Given the description of an element on the screen output the (x, y) to click on. 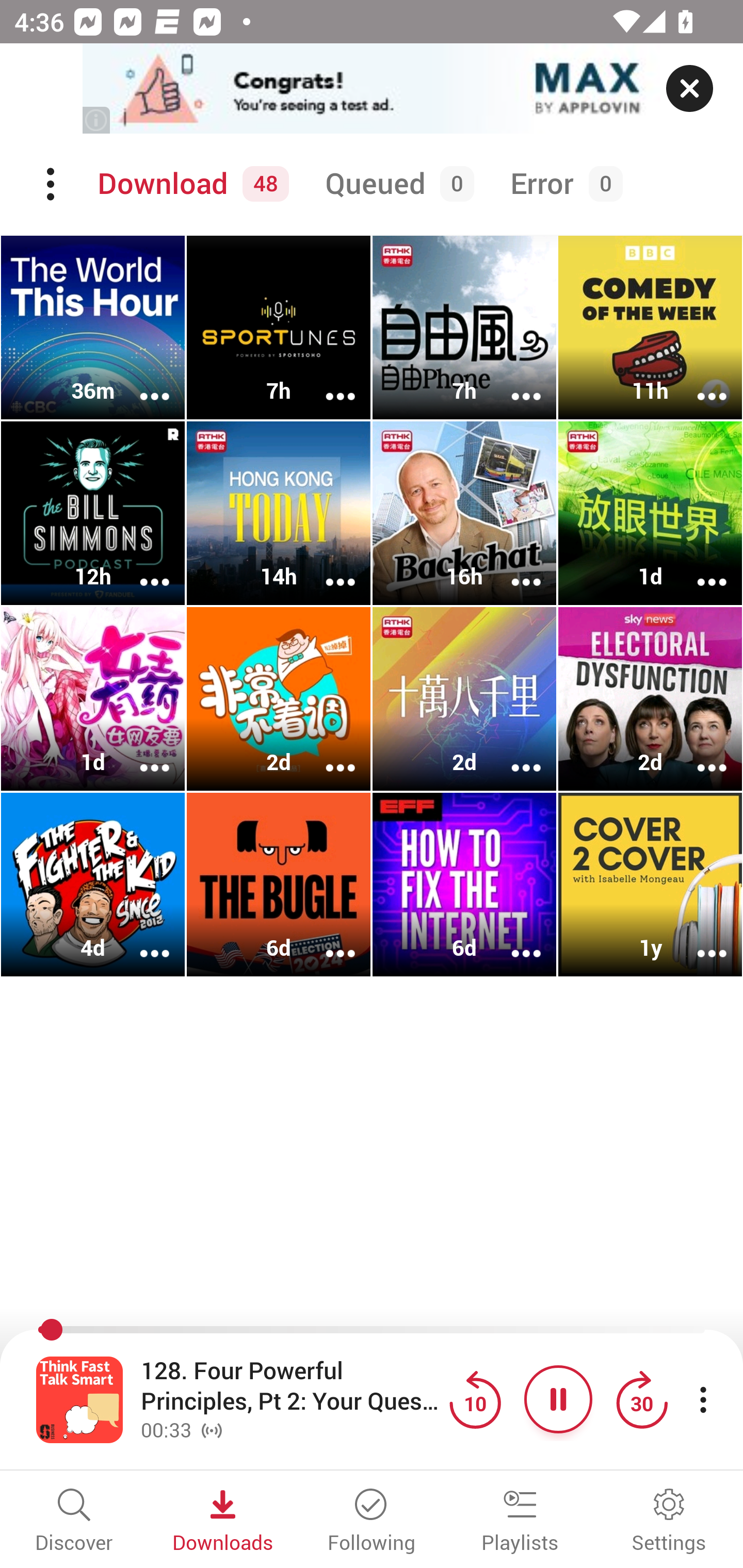
app-monetization (371, 88)
(i) (96, 119)
Menu (52, 184)
 Download 48 (189, 184)
 Queued 0 (396, 184)
 Error 0 (562, 184)
The World This Hour 36m More options More options (92, 327)
Sportunes HK 7h More options More options (278, 327)
自由风自由PHONE 7h More options More options (464, 327)
Comedy of the Week 11h More options More options (650, 327)
More options (141, 382)
More options (326, 382)
More options (512, 382)
More options (698, 382)
Hong Kong Today 14h More options More options (278, 513)
Backchat 16h More options More options (464, 513)
放眼世界 1d More options More options (650, 513)
More options (141, 569)
More options (326, 569)
More options (512, 569)
More options (698, 569)
女王有药丨爆笑脱口秀 1d More options More options (92, 698)
非常不着调 2d More options More options (278, 698)
十萬八千里 2d More options More options (464, 698)
Electoral Dysfunction 2d More options More options (650, 698)
More options (141, 754)
More options (326, 754)
More options (512, 754)
More options (698, 754)
The Fighter & The Kid 4d More options More options (92, 883)
The Bugle 6d More options More options (278, 883)
Cover 2 Cover 1y More options More options (650, 883)
More options (141, 940)
More options (326, 940)
More options (512, 940)
More options (698, 940)
Open fullscreen player (79, 1399)
More player controls (703, 1399)
Pause button (558, 1398)
Jump back (475, 1399)
Jump forward (641, 1399)
Discover (74, 1521)
Downloads (222, 1521)
Following (371, 1521)
Playlists (519, 1521)
Settings (668, 1521)
